Given the description of an element on the screen output the (x, y) to click on. 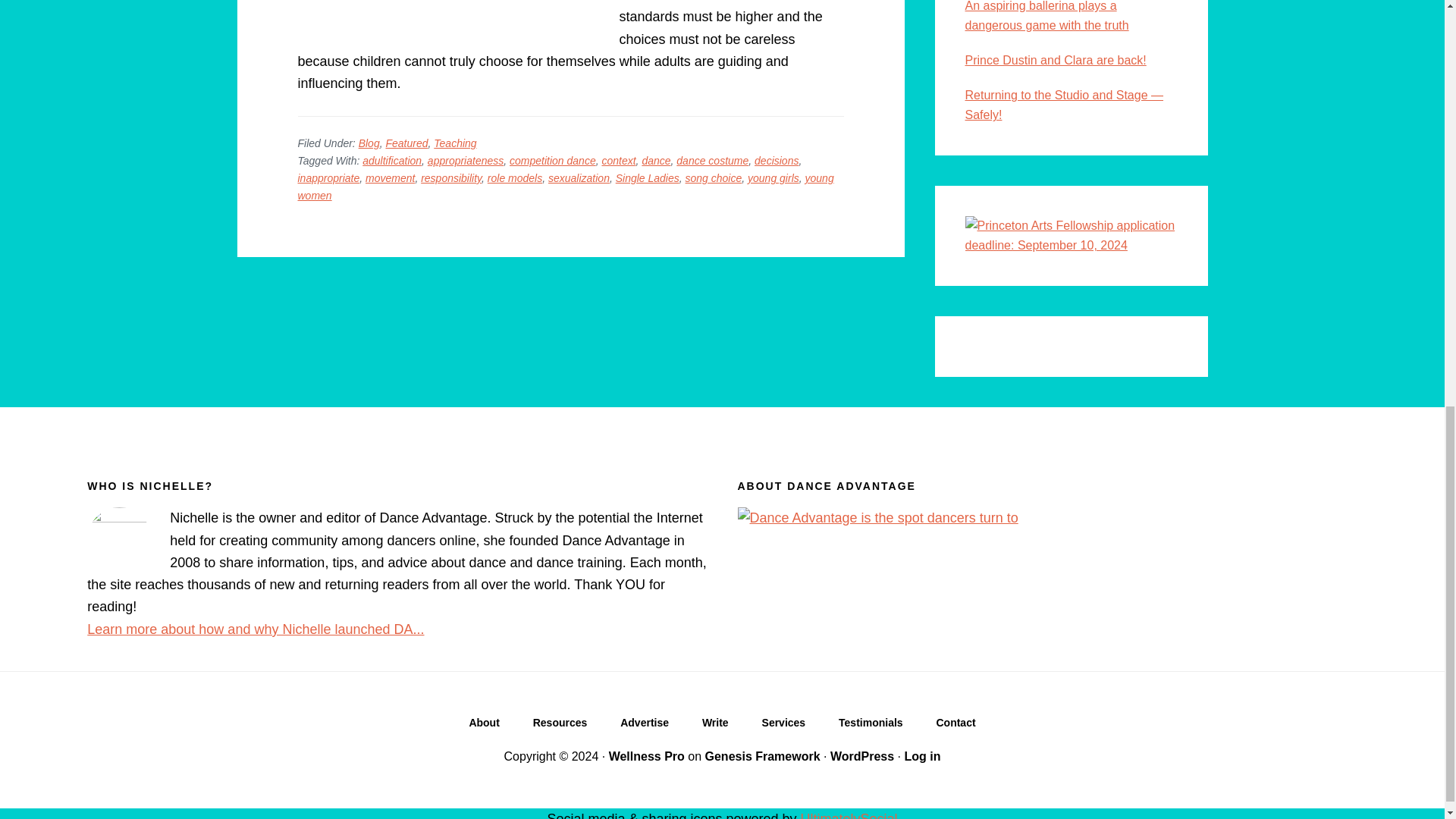
CLICK to see what makes DA tick (482, 726)
Blog (369, 143)
adultification (392, 160)
Teaching (454, 143)
role models (514, 177)
dance costume (712, 160)
movement (389, 177)
dance (655, 160)
appropriateness (465, 160)
Featured (406, 143)
